Given the description of an element on the screen output the (x, y) to click on. 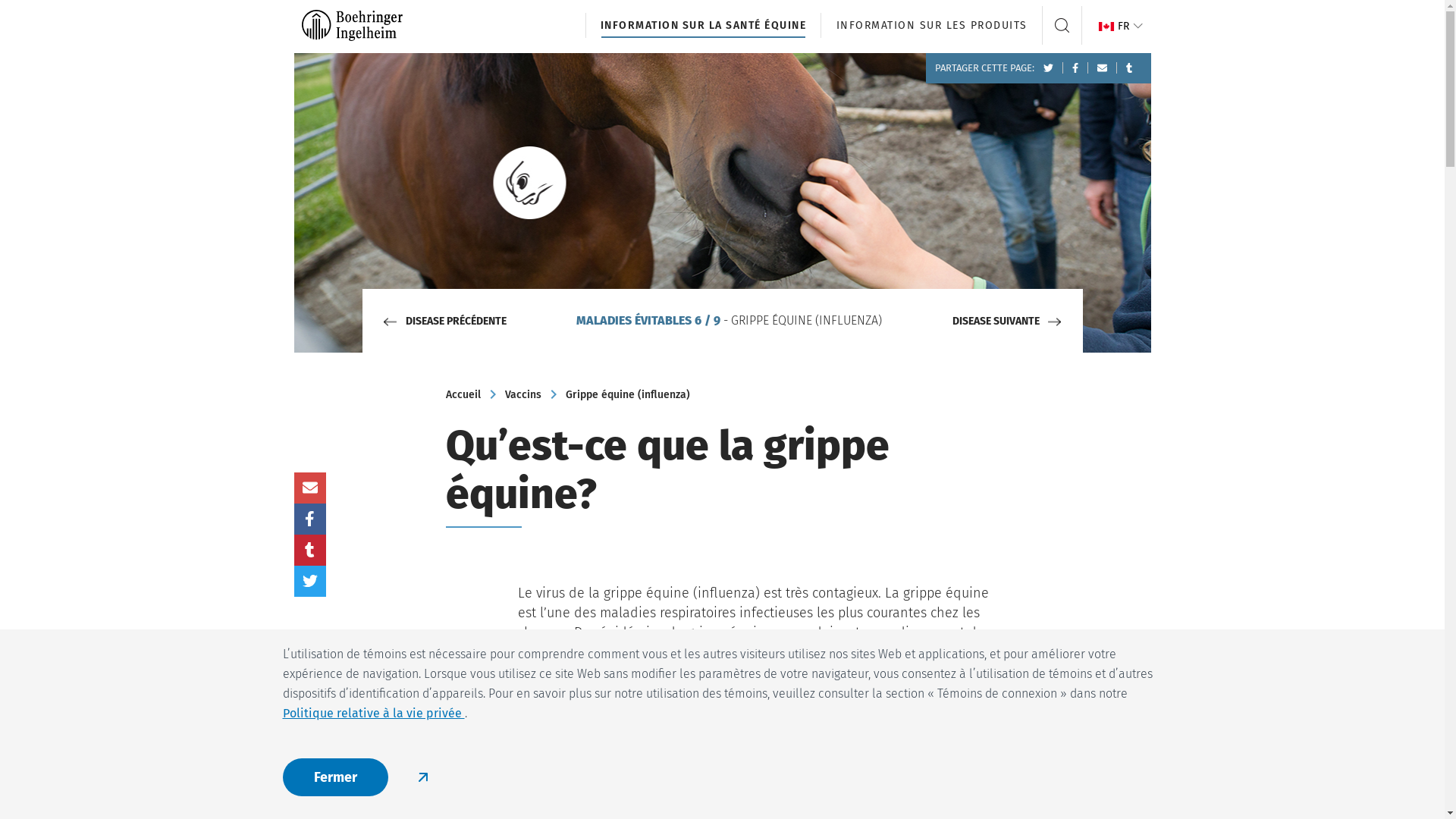
Accueil Element type: text (462, 394)
Partager sur Facebook Element type: hover (1075, 67)
Partager sur Twitter Element type: hover (1048, 67)
Partager sur tumblr Element type: hover (1129, 67)
Partager sur tumblr Element type: hover (310, 549)
Fermer Element type: text (334, 777)
Partager sur Twitter Element type: hover (310, 580)
INFORMATION SUR LES PRODUITS Element type: text (931, 24)
DISEASE SUIVANTE Element type: text (990, 320)
Envoyer par courriel Element type: hover (310, 487)
Vaccins Element type: text (523, 394)
FR Element type: text (1120, 25)
Partager sur Facebook Element type: hover (310, 518)
Envoyer par courriel Element type: hover (1102, 67)
